Given the description of an element on the screen output the (x, y) to click on. 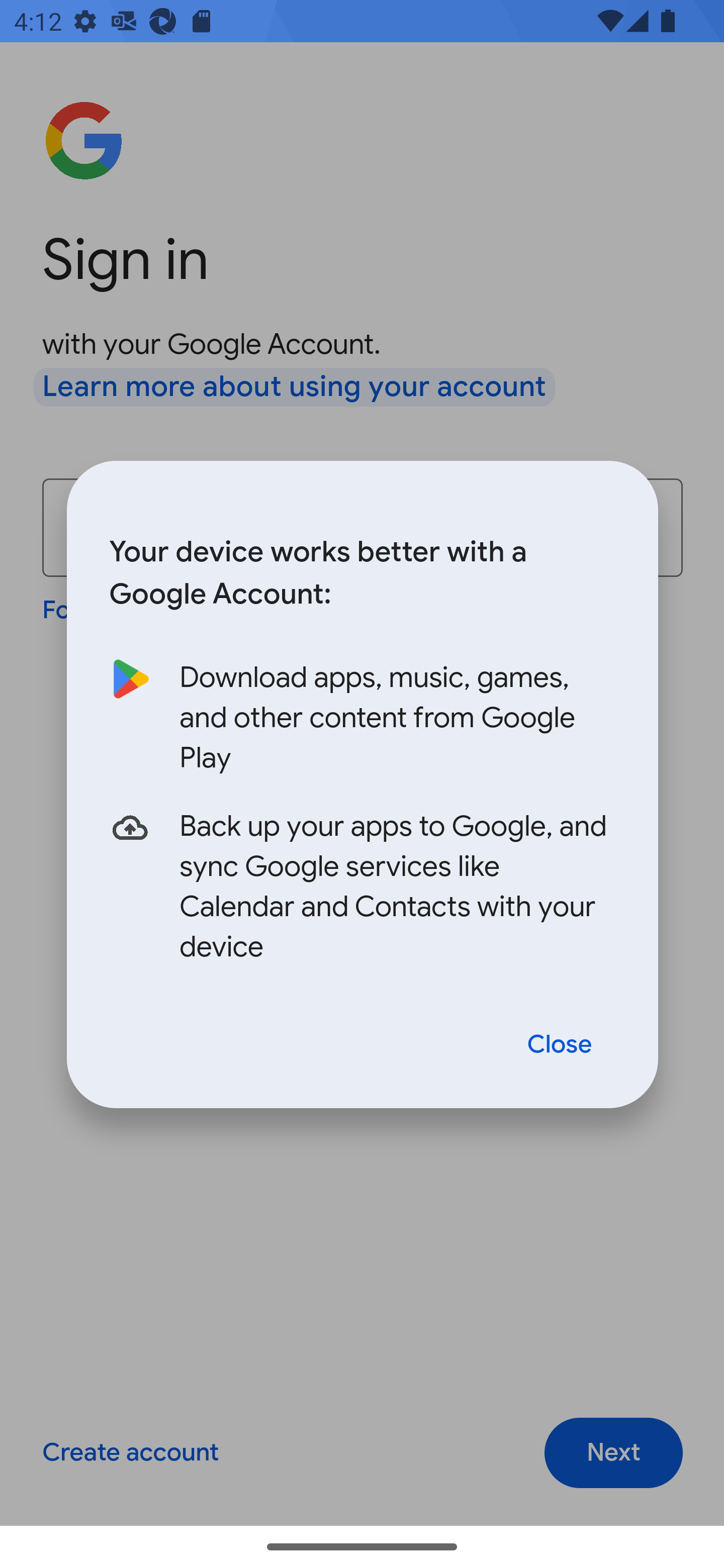
Close (560, 1044)
